Given the description of an element on the screen output the (x, y) to click on. 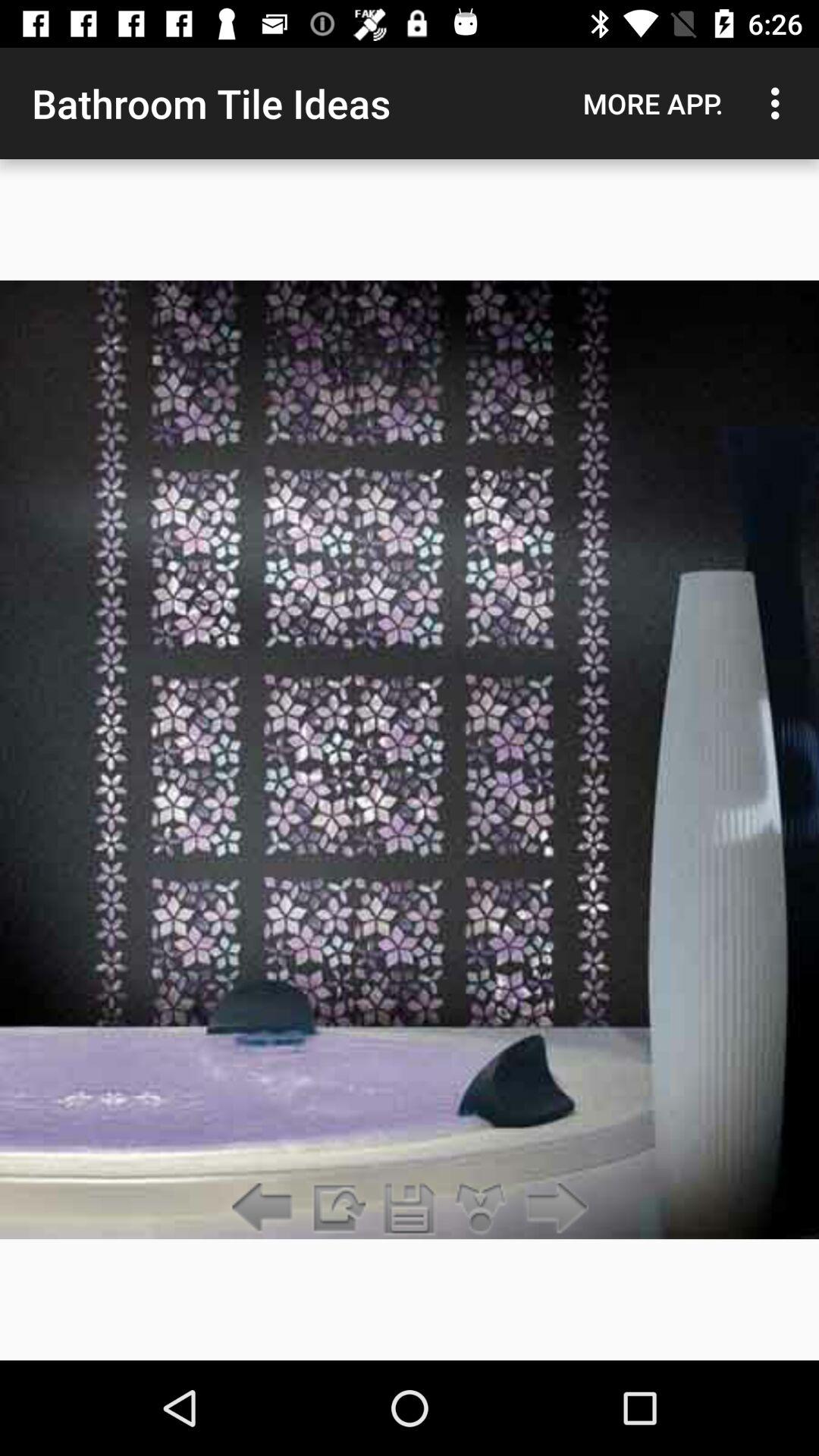
previous (266, 1209)
